Given the description of an element on the screen output the (x, y) to click on. 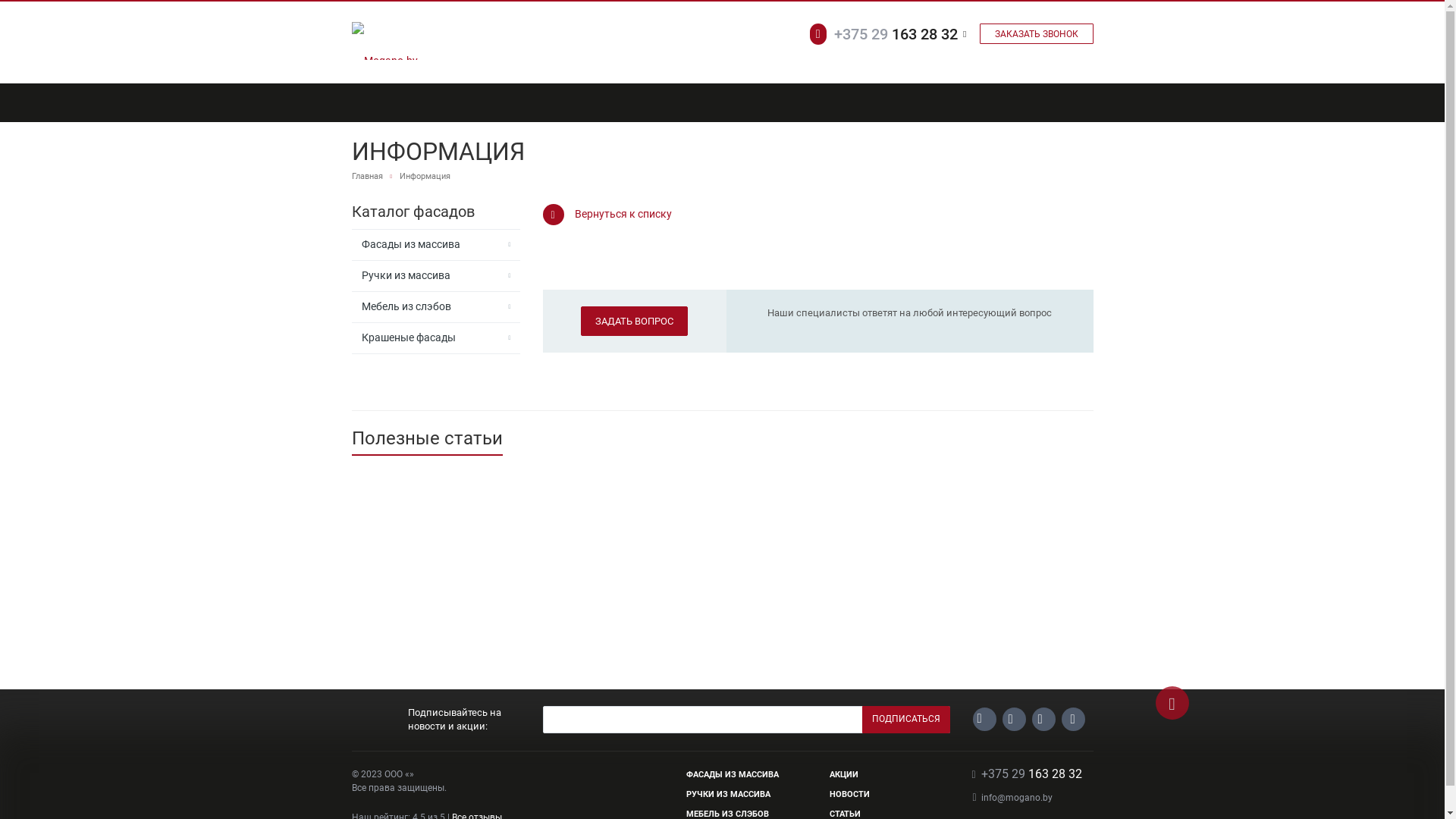
Whatsapp Element type: hover (1291, 752)
YouTube Element type: text (1042, 719)
Viber Element type: hover (1291, 793)
+375 29 163 28 32 Element type: text (1031, 773)
Instagram Element type: text (1014, 719)
Facebook Element type: text (1073, 719)
+375 29 163 28 32 Element type: text (895, 34)
info@mogano.by Element type: text (1016, 797)
Mogano.by Element type: hover (384, 40)
